Given the description of an element on the screen output the (x, y) to click on. 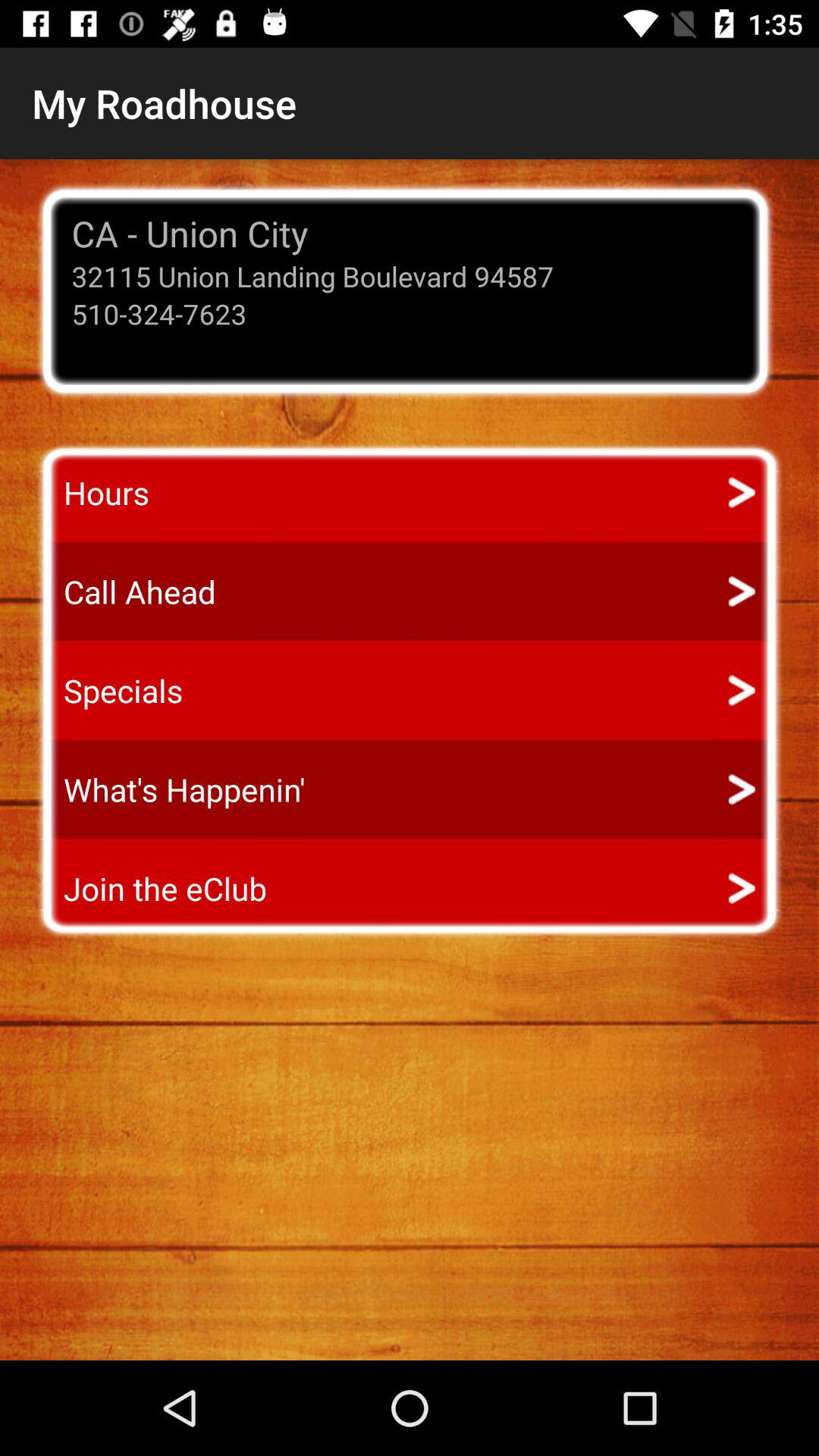
swipe to the call ahead (125, 591)
